Given the description of an element on the screen output the (x, y) to click on. 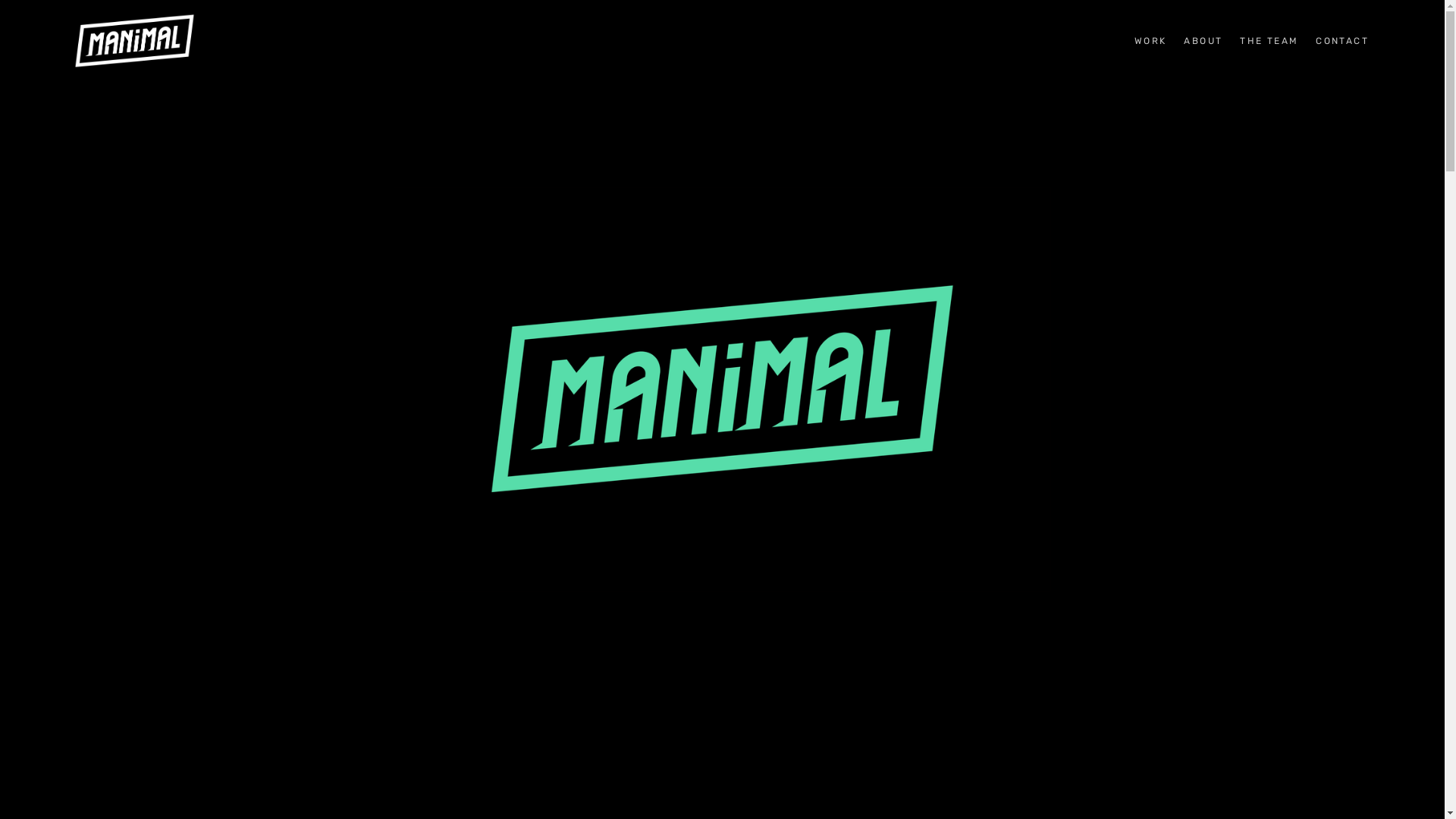
CONTACT Element type: text (1341, 41)
ABOUT Element type: text (1202, 41)
THE TEAM Element type: text (1268, 41)
WORK Element type: text (1150, 40)
